Given the description of an element on the screen output the (x, y) to click on. 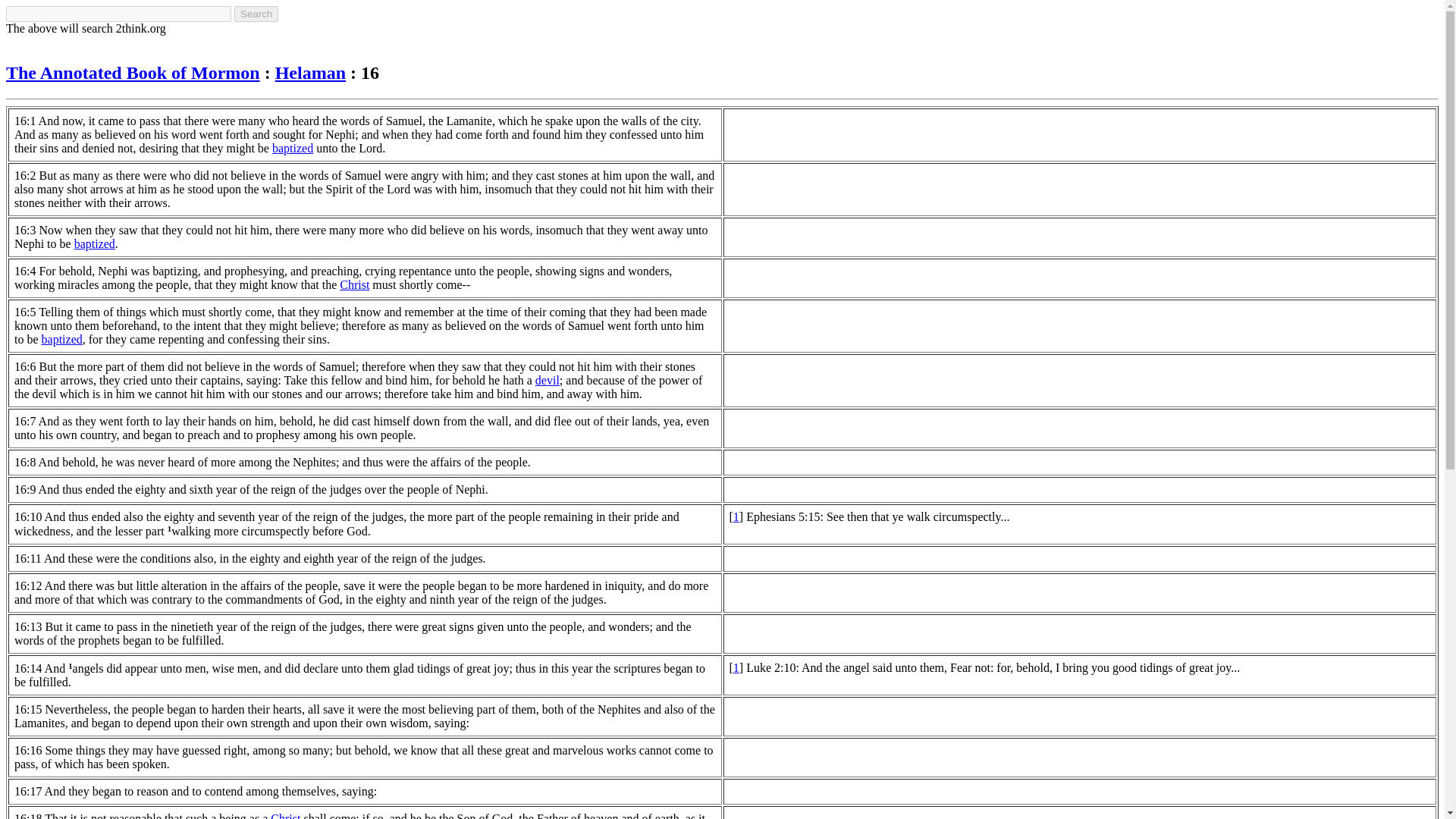
16:9 (24, 489)
16:1 (24, 120)
baptized (292, 147)
Christ (284, 815)
baptized (94, 243)
16:11 (28, 558)
16:15 (28, 708)
Helaman (310, 72)
16:14 (28, 667)
16:4 (24, 270)
